Given the description of an element on the screen output the (x, y) to click on. 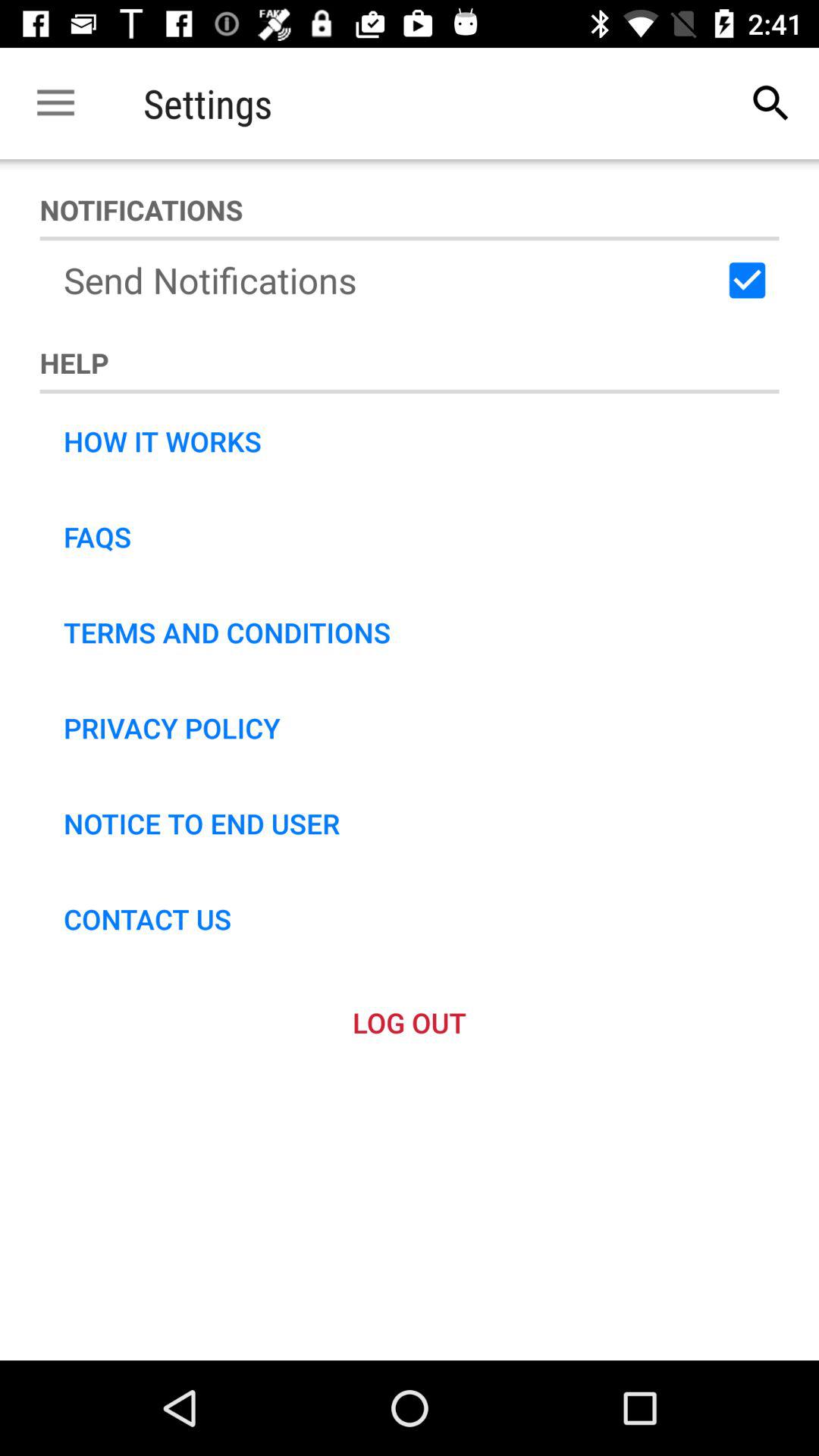
open icon above the privacy policy icon (226, 632)
